Given the description of an element on the screen output the (x, y) to click on. 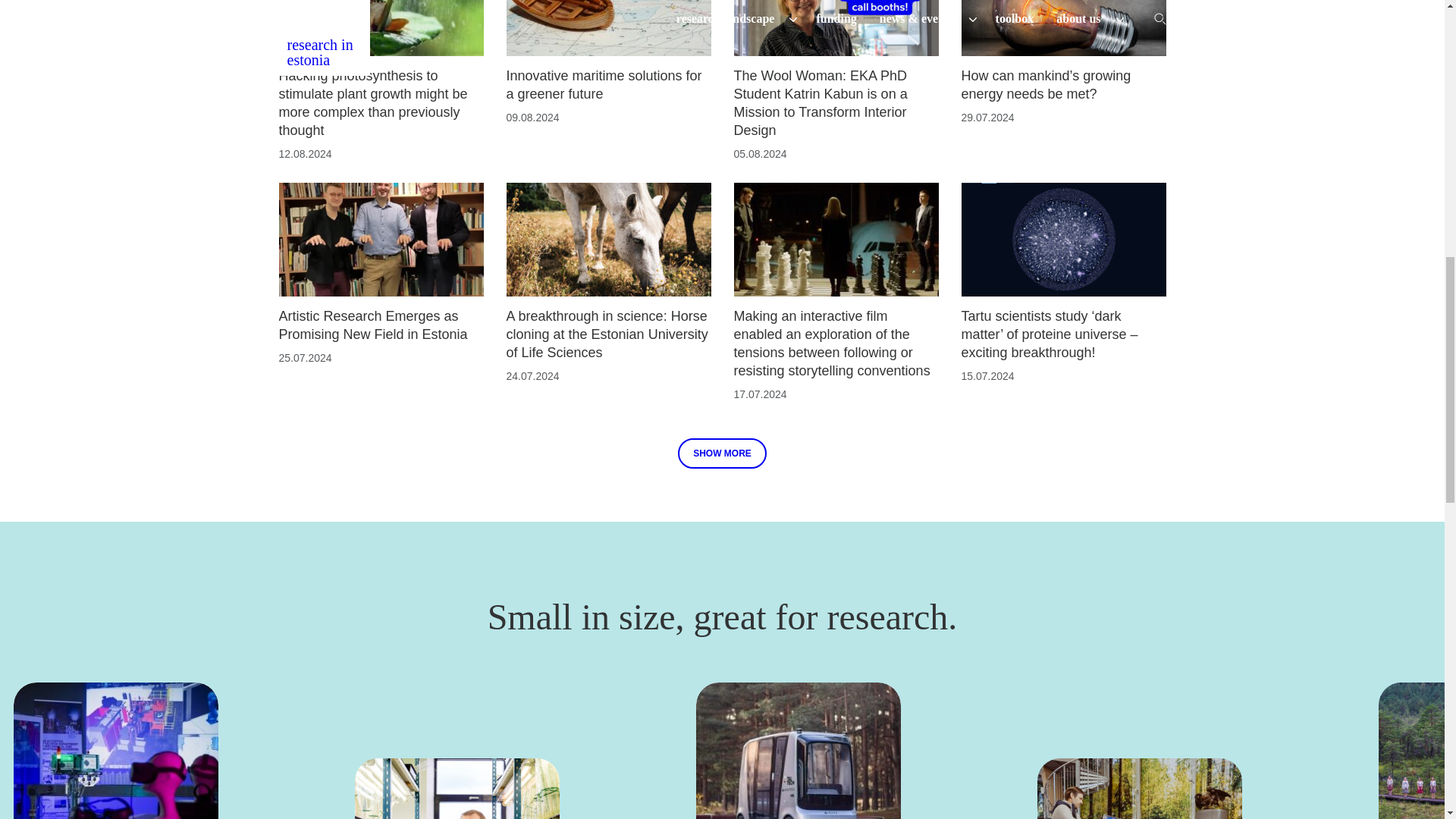
SHOW MORE (722, 453)
